Given the description of an element on the screen output the (x, y) to click on. 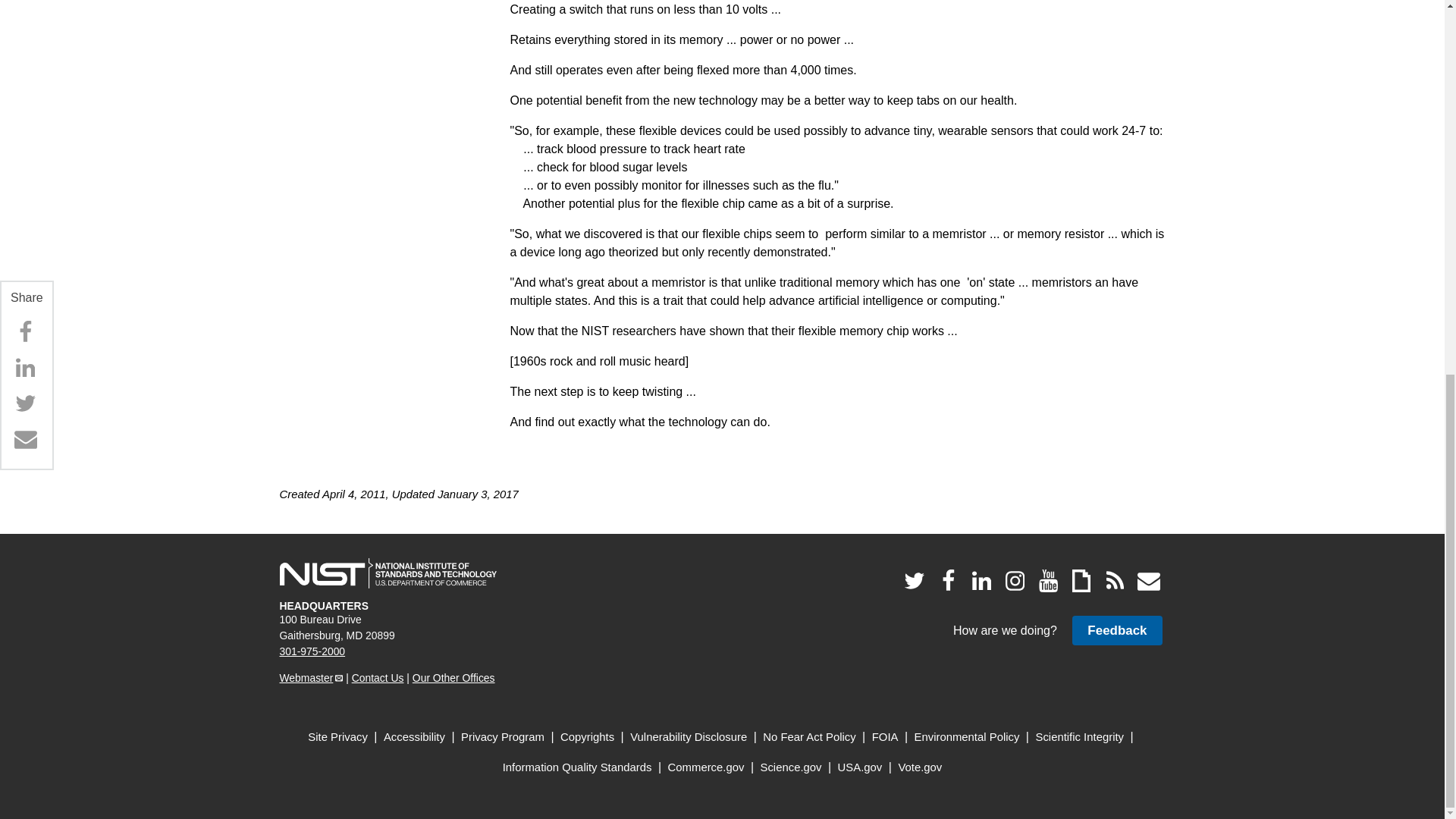
National Institute of Standards and Technology (387, 572)
301-975-2000 (312, 651)
Contact Us (378, 677)
Our Other Offices (453, 677)
Provide feedback (1116, 630)
Webmaster (310, 677)
